Given the description of an element on the screen output the (x, y) to click on. 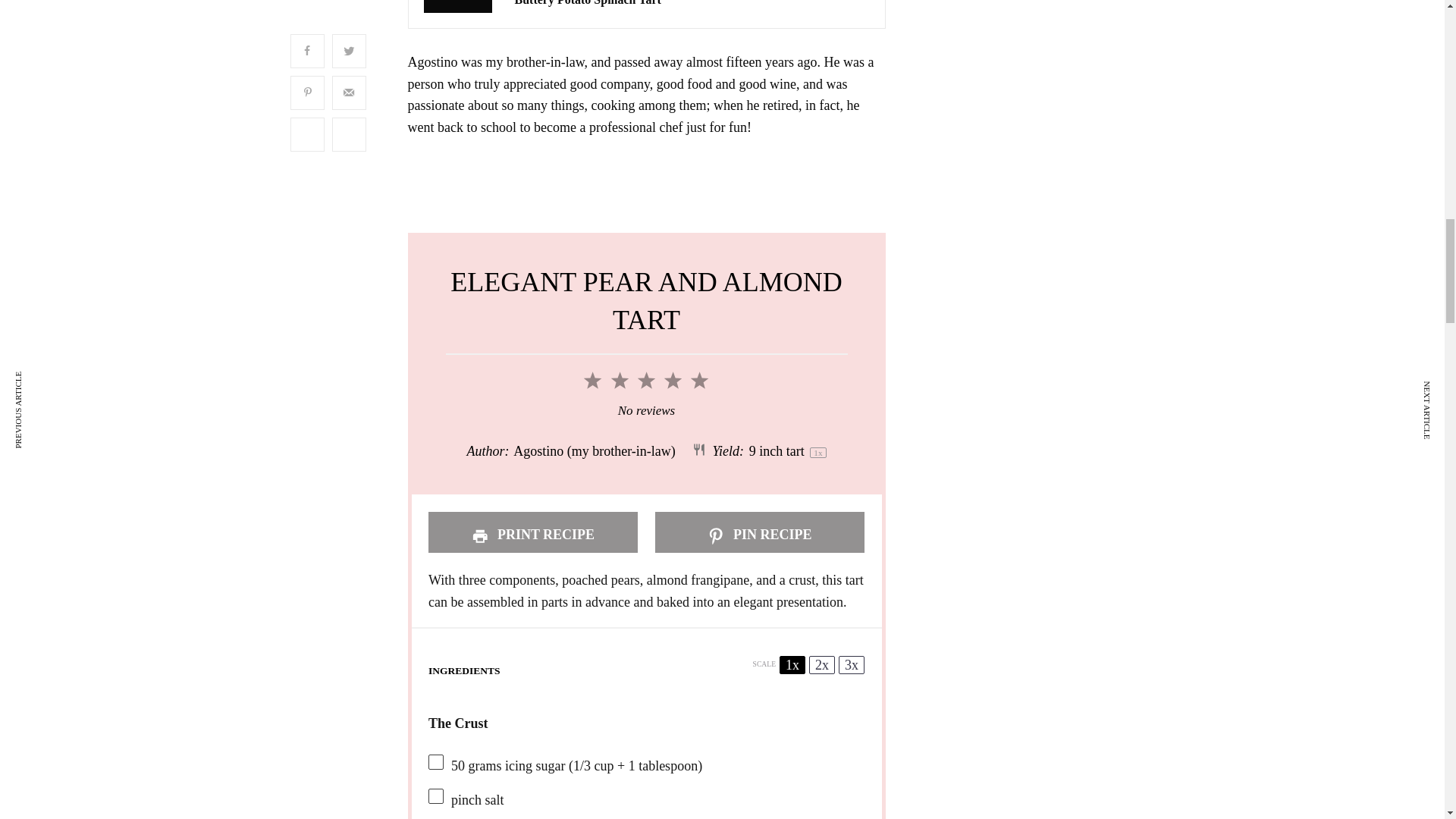
Buttery Potato Spinach Tart (587, 4)
